Given the description of an element on the screen output the (x, y) to click on. 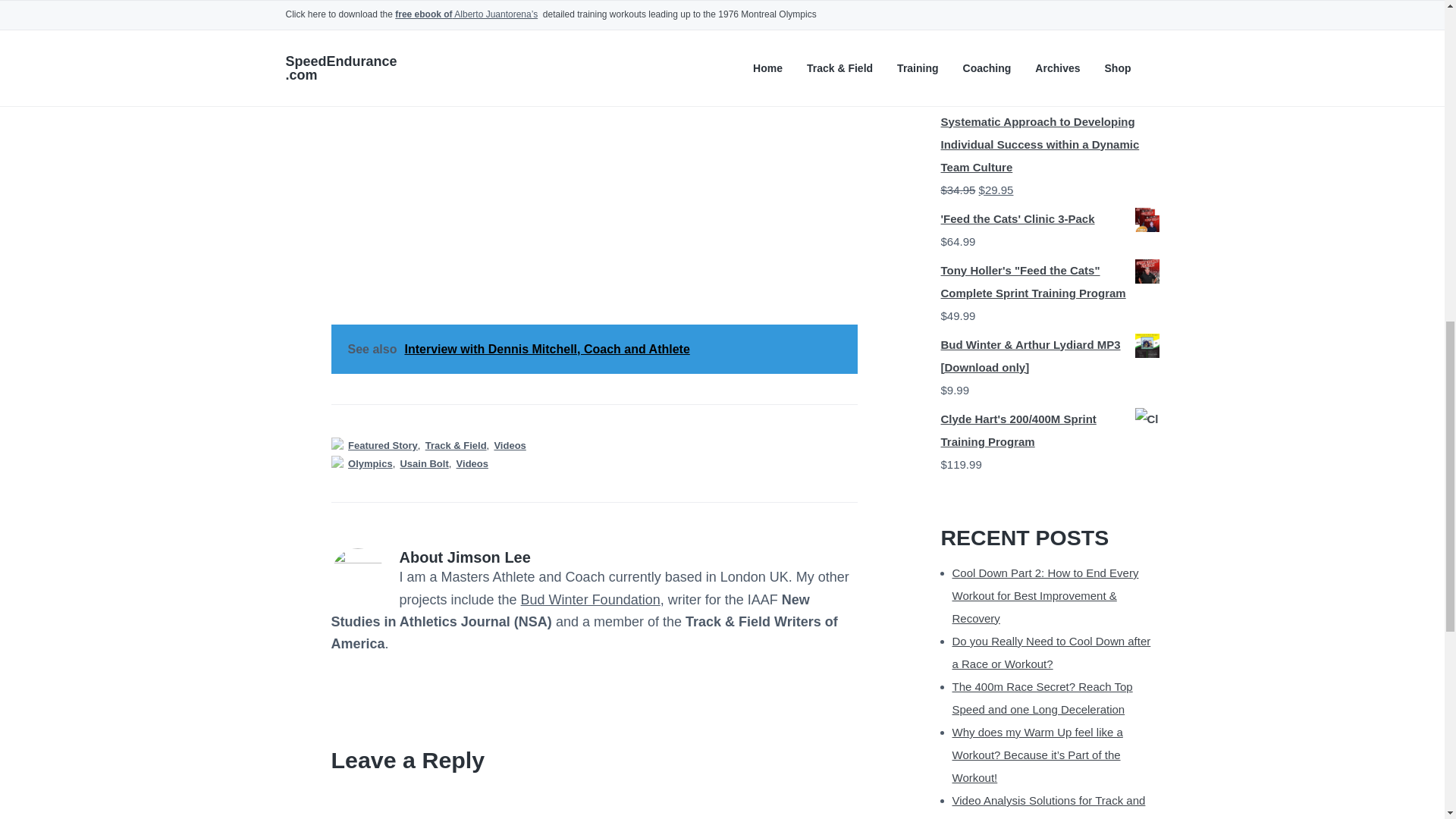
See also  Interview with Dennis Mitchell, Coach and Athlete (593, 348)
Comment Form (593, 802)
